Given the description of an element on the screen output the (x, y) to click on. 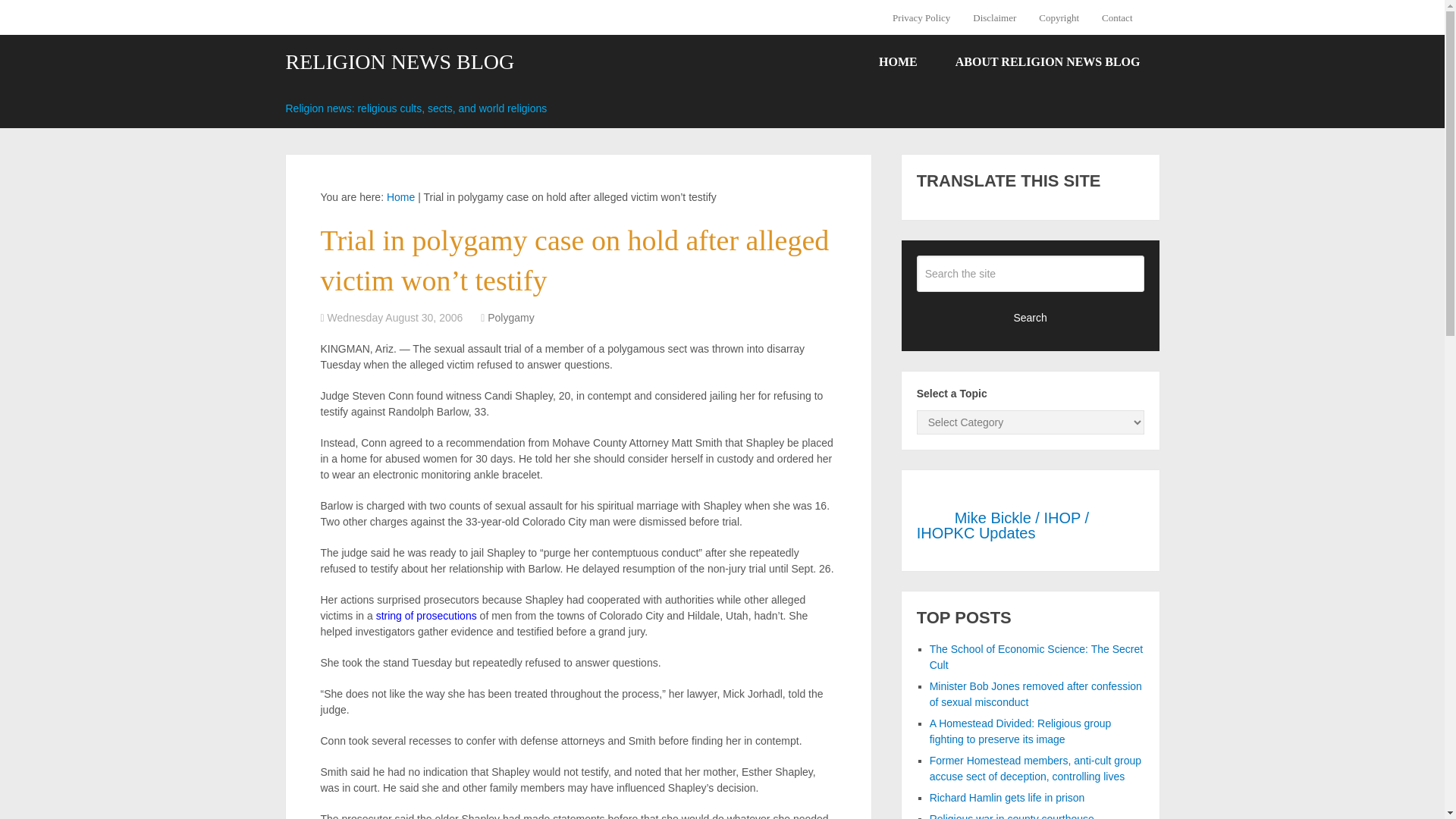
Richard Hamlin gets life in prison (1007, 797)
HOME (898, 62)
ABOUT RELIGION NEWS BLOG (1047, 62)
Search (1030, 317)
Home (400, 196)
Contact (1116, 17)
RELIGION NEWS BLOG (399, 61)
The School of Economic Science: The Secret Cult (1036, 656)
